Given the description of an element on the screen output the (x, y) to click on. 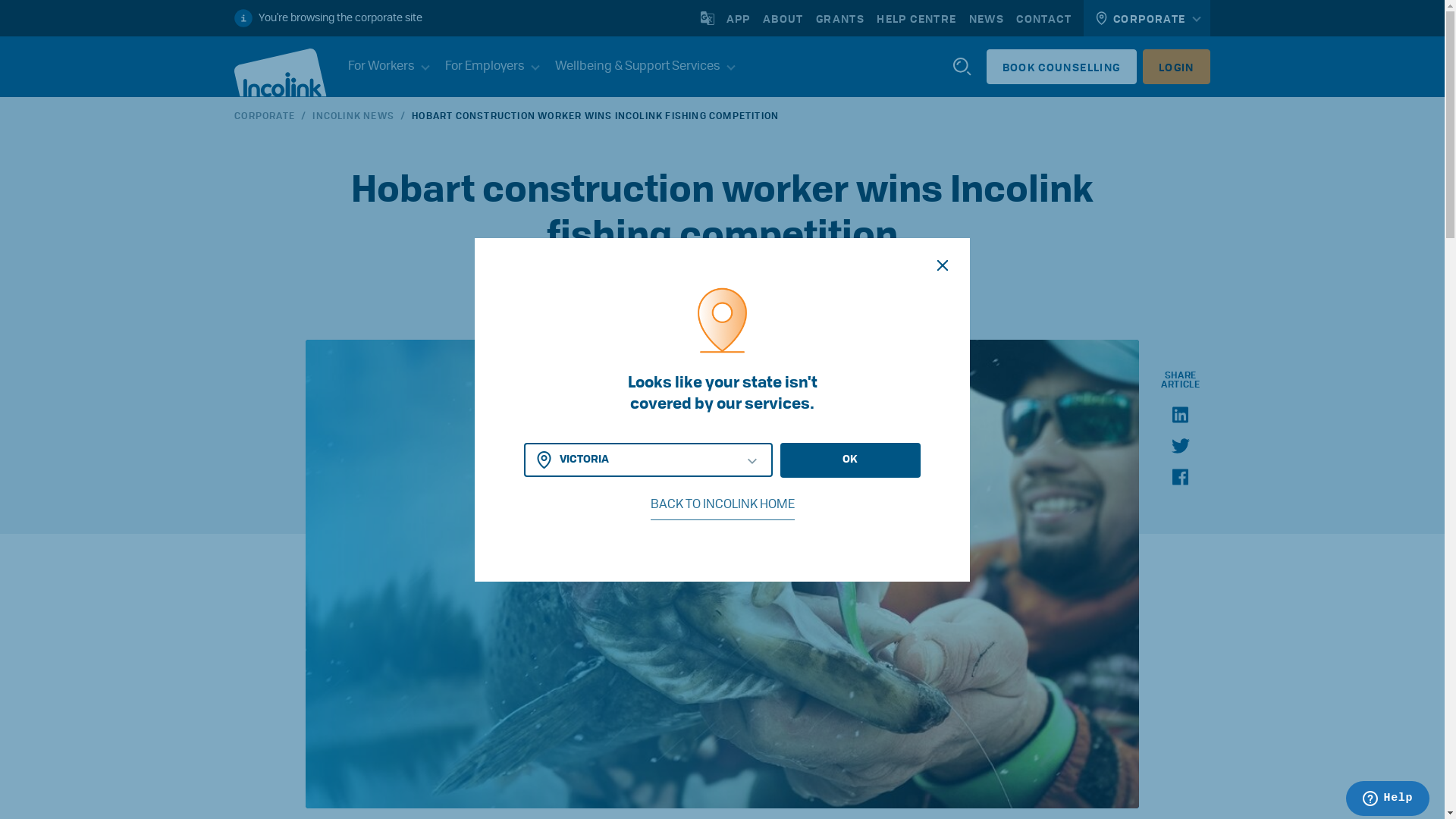
For Workers Element type: text (381, 66)
OK Element type: text (850, 459)
CONTACT Element type: text (1043, 17)
LOGIN Element type: text (1176, 66)
Wellbeing & Support Services Element type: text (637, 66)
BACK TO INCOLINK HOME Element type: text (722, 504)
ABOUT Element type: text (782, 17)
APP Element type: text (738, 17)
For Employers Element type: text (484, 66)
CORPORATE Element type: text (264, 115)
HELP CENTRE Element type: text (916, 17)
NEWS Element type: text (986, 17)
INCOLINK NEWS Element type: text (353, 115)
GRANTS Element type: text (839, 17)
BOOK
COUNSELLING Element type: text (1061, 66)
